Given the description of an element on the screen output the (x, y) to click on. 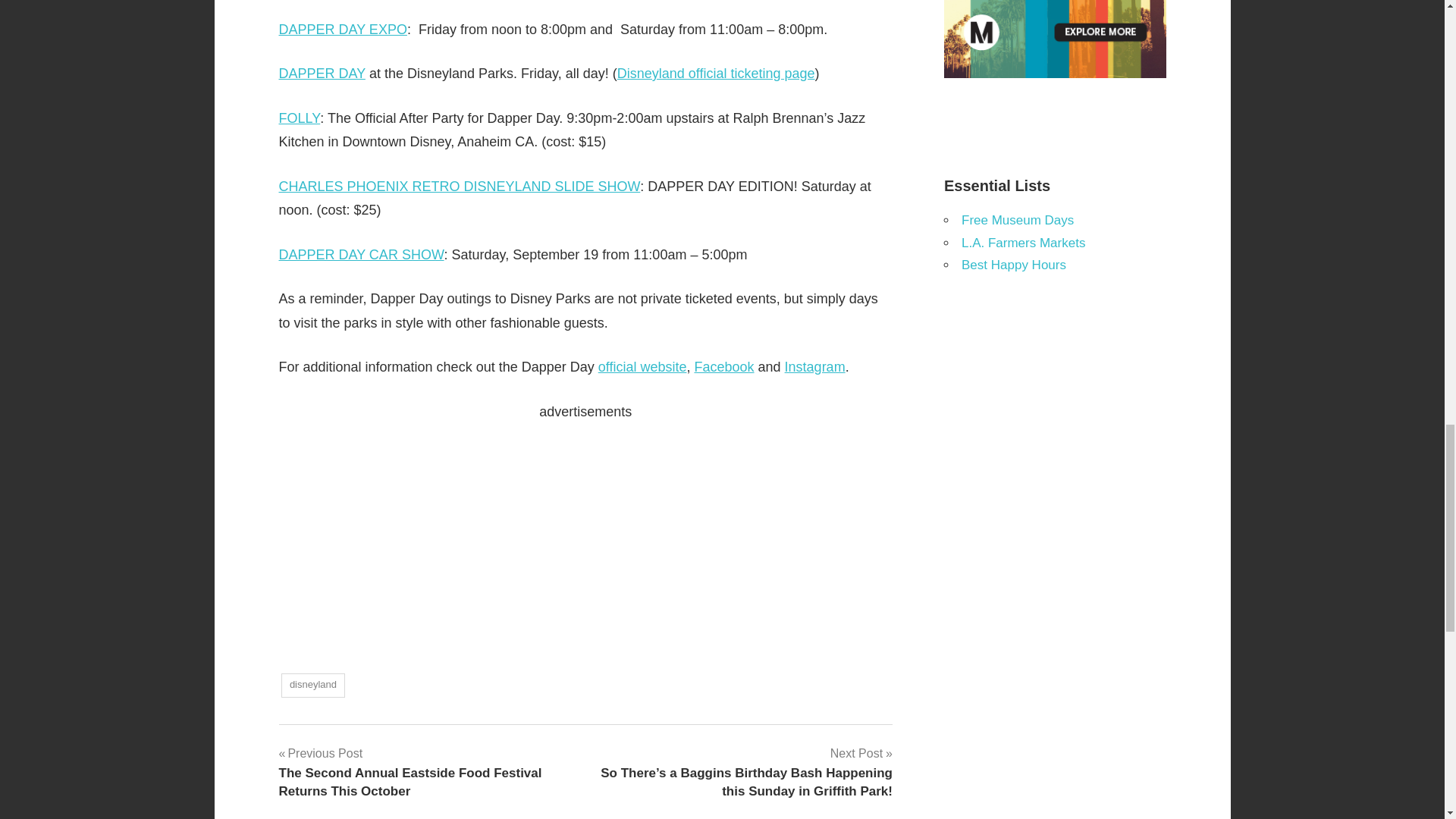
official website (642, 366)
CHARLES PHOENIX RETRO DISNEYLAND SLIDE SHOW (459, 186)
DAPPER DAY EXPO (343, 29)
disneyland (313, 685)
DAPPER DAY (322, 73)
DAPPER DAY CAR SHOW (361, 254)
Instagram (814, 366)
Facebook (724, 366)
FOLLY (299, 118)
